Given the description of an element on the screen output the (x, y) to click on. 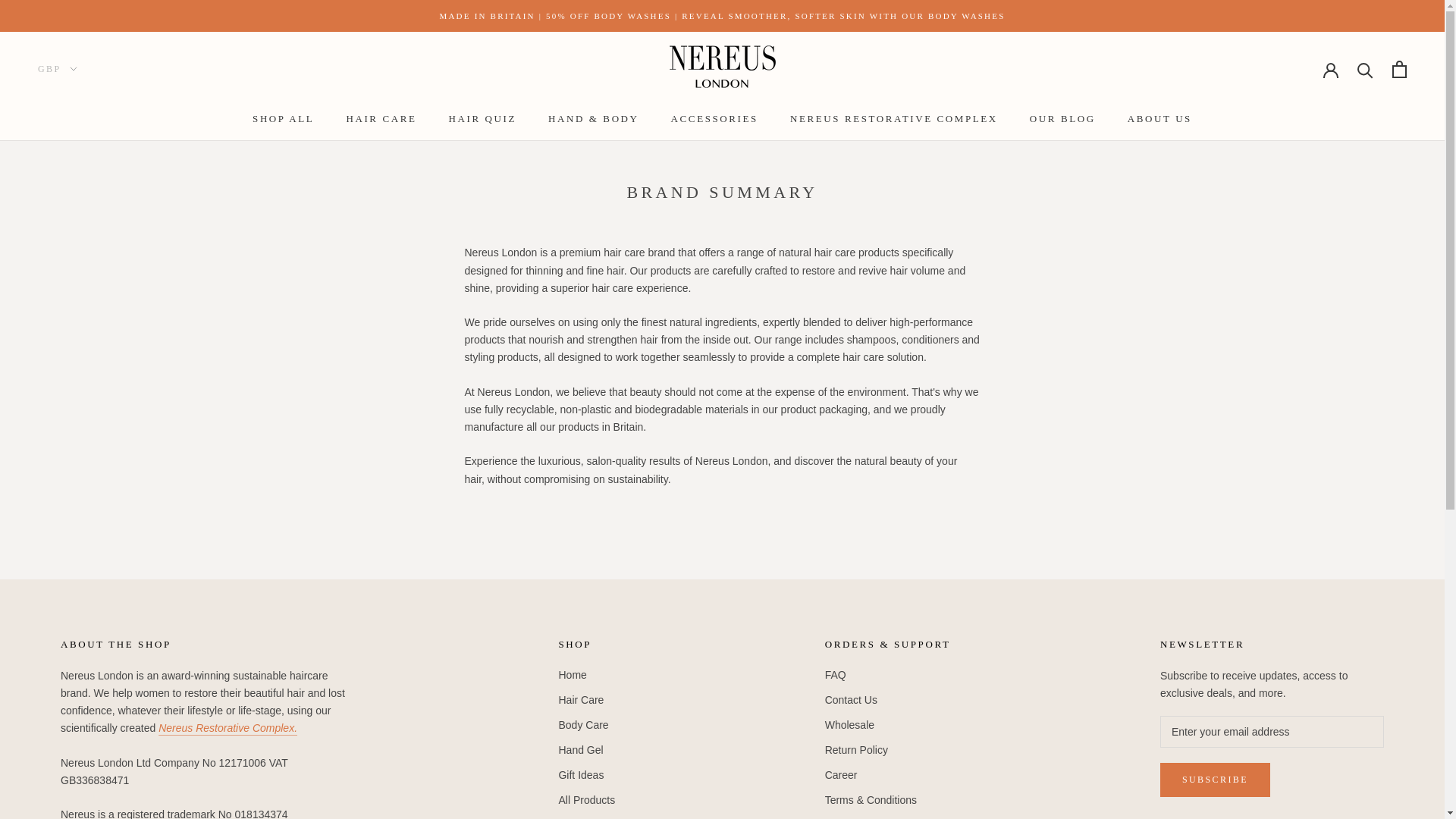
Nereus Restorative Complex (227, 727)
HAIR CARE (381, 118)
Currency selector (57, 68)
